Given the description of an element on the screen output the (x, y) to click on. 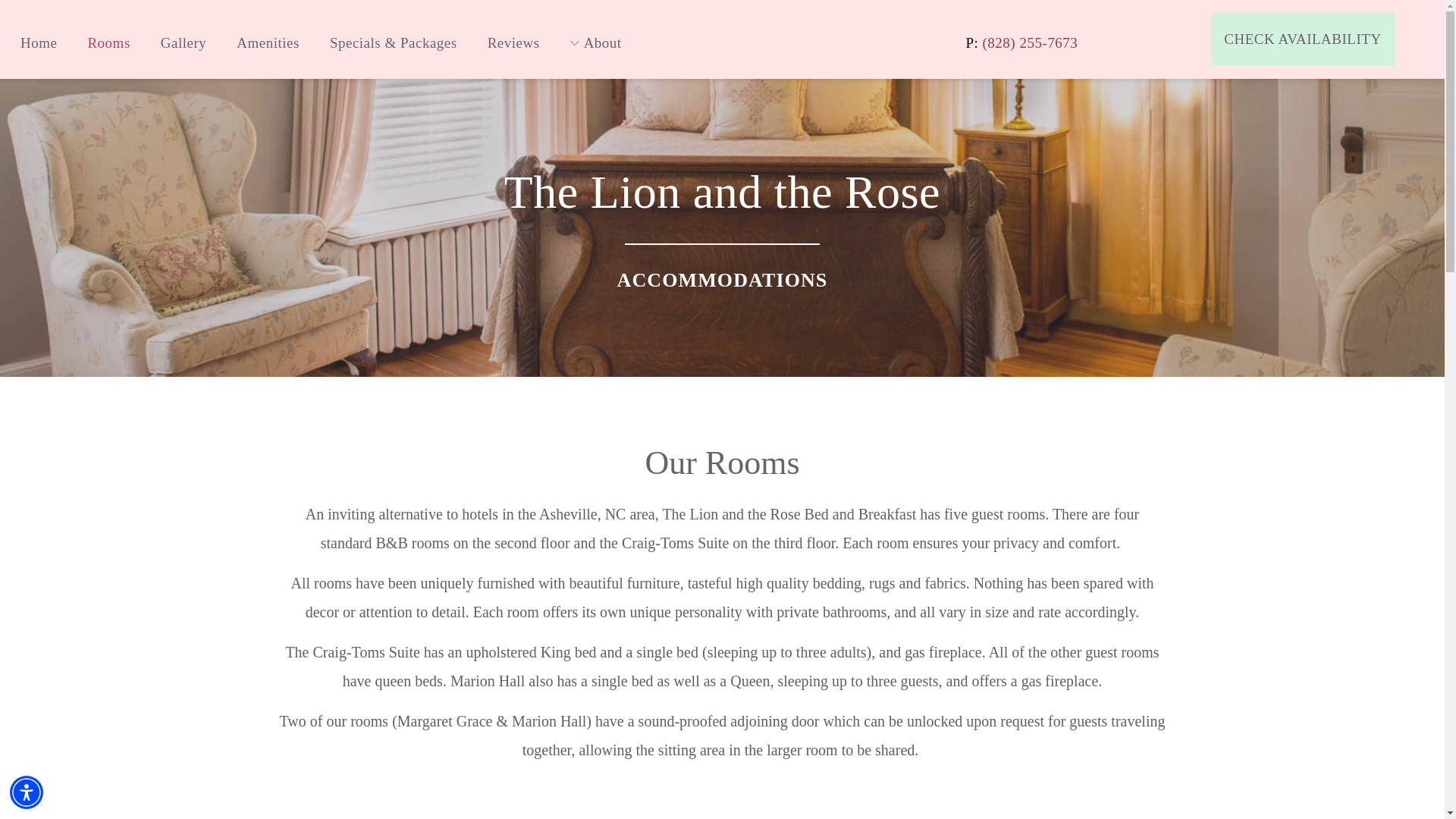
Accessibility Menu (26, 792)
